Given the description of an element on the screen output the (x, y) to click on. 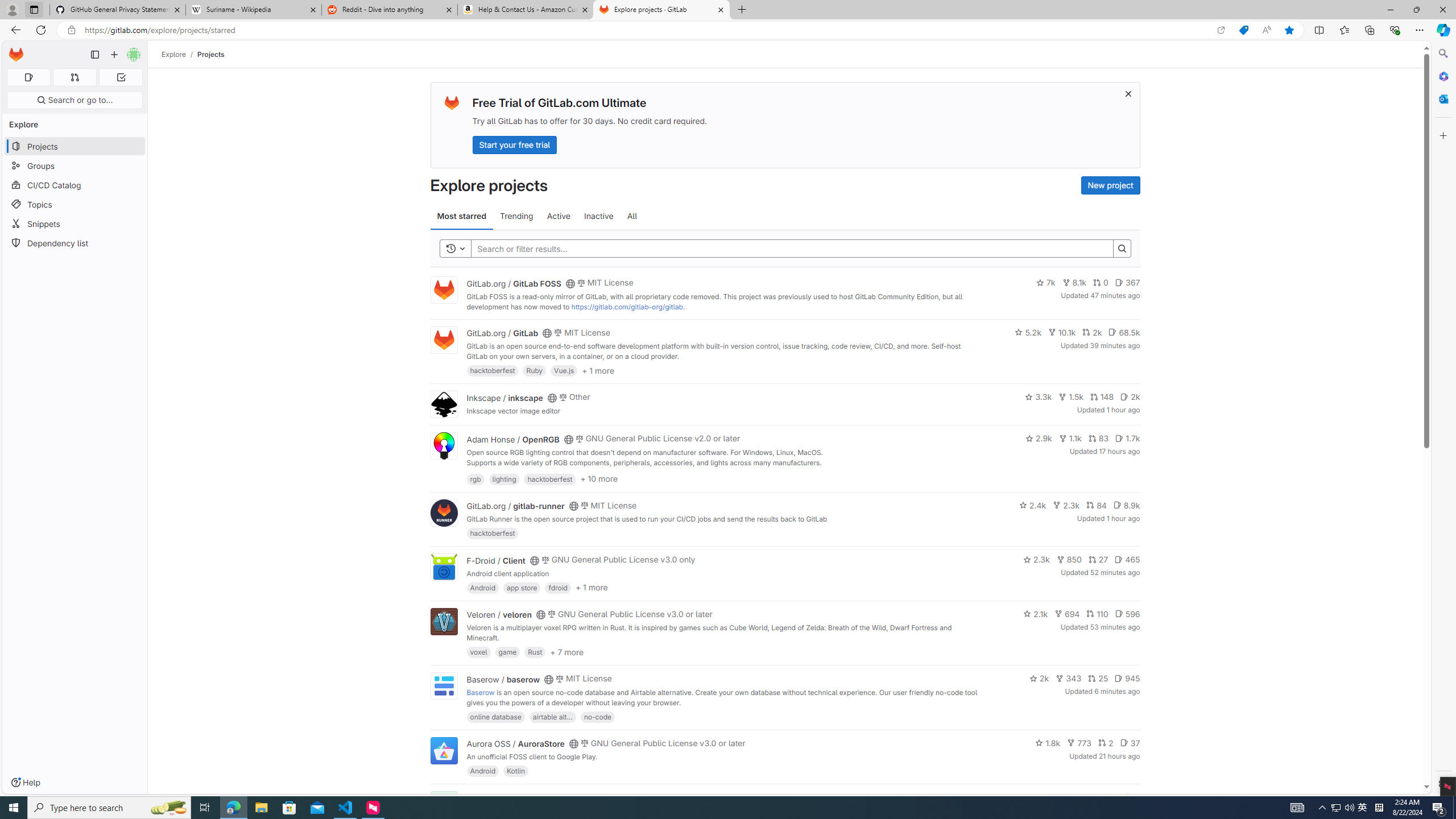
Inkscape / inkscape (504, 397)
https://openrgb.org (563, 472)
Projects (211, 53)
1.7k (1127, 438)
Active (559, 216)
5.2k (1027, 331)
Explore/ (179, 53)
27 (1097, 559)
110 (1097, 613)
7k (1045, 282)
Groups (74, 165)
